Given the description of an element on the screen output the (x, y) to click on. 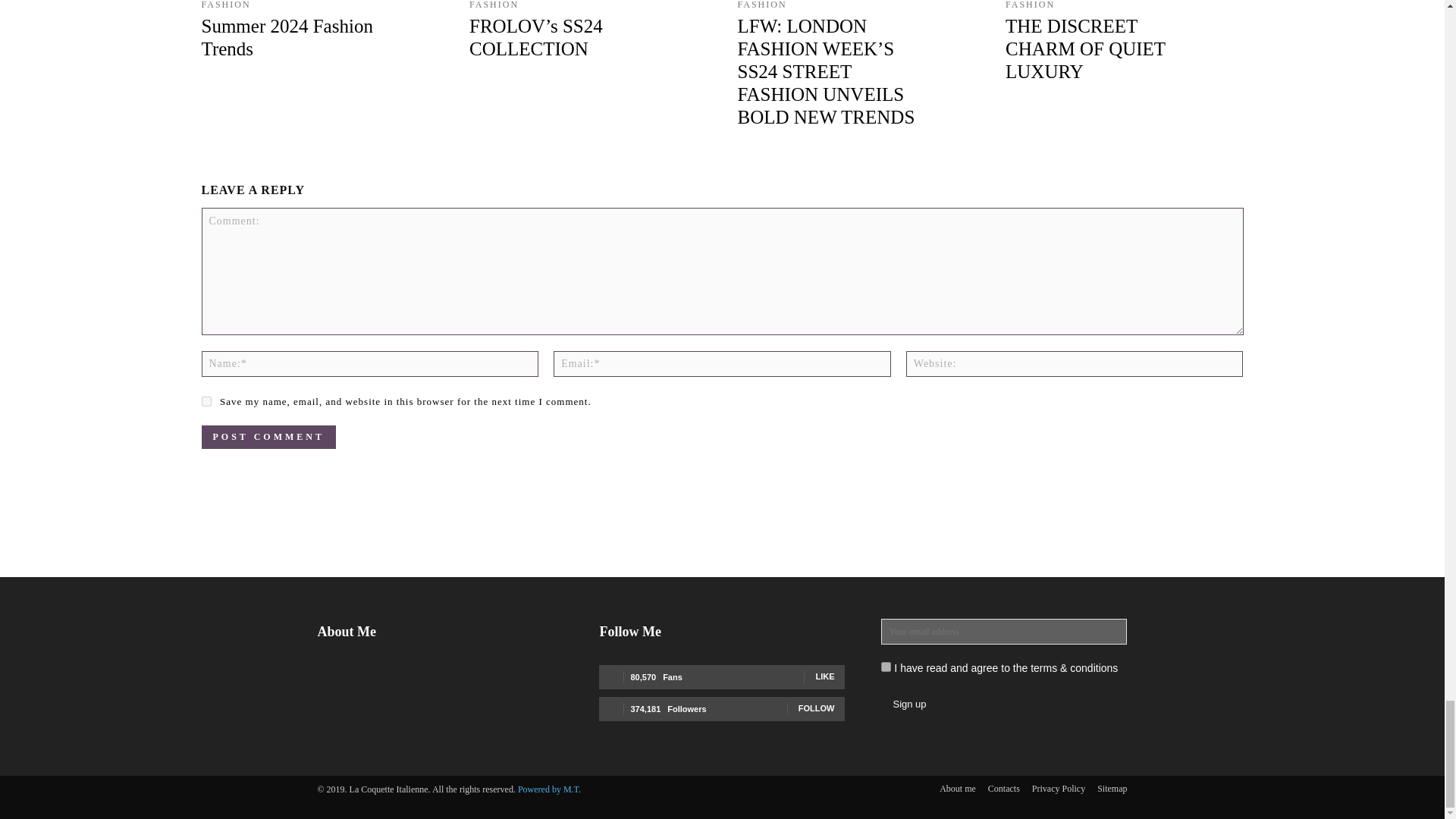
Sign up (908, 703)
Post Comment (269, 436)
yes (206, 401)
1 (885, 666)
